Given the description of an element on the screen output the (x, y) to click on. 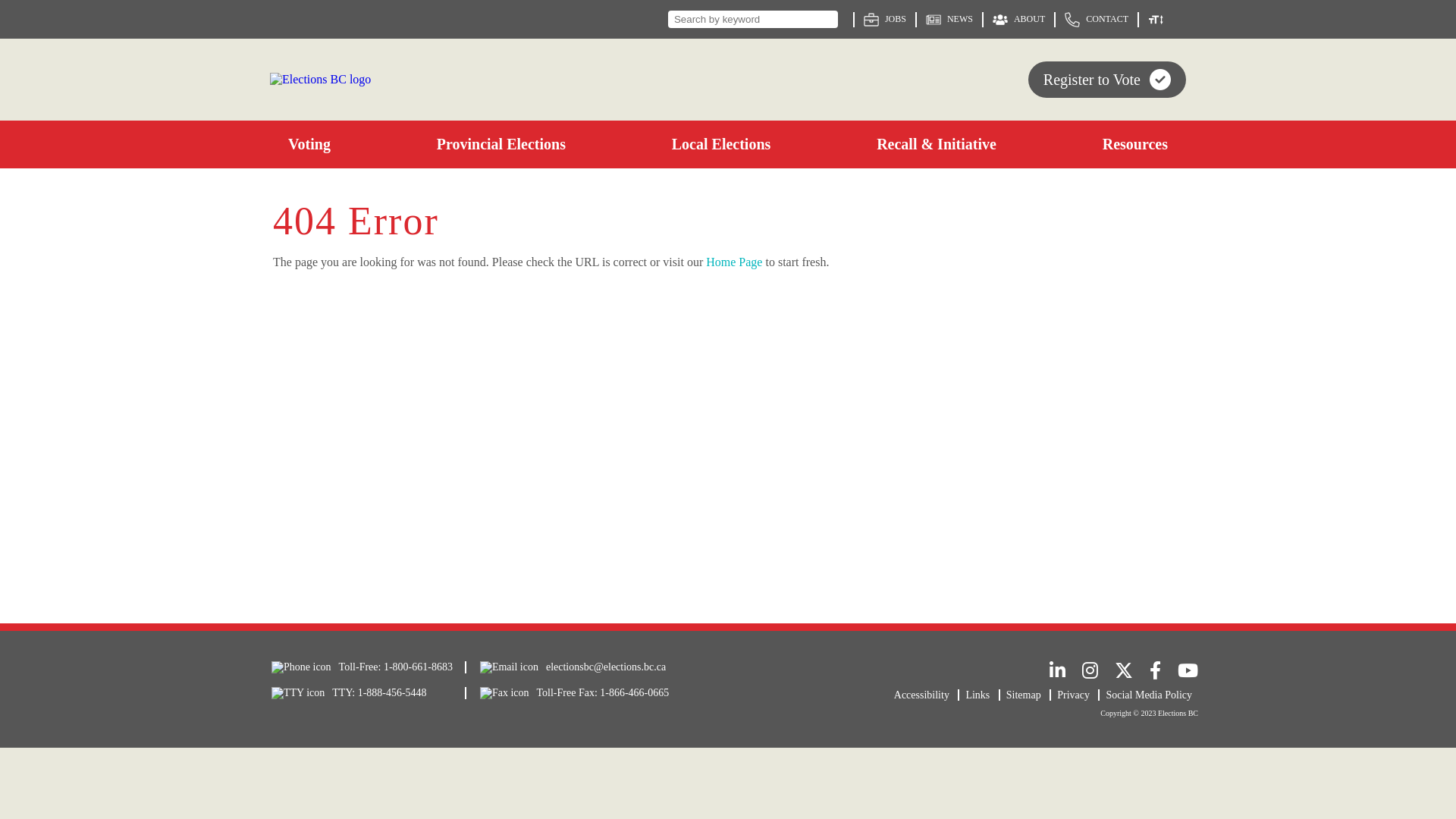
Home Page Element type: text (734, 261)
Accessibility Element type: text (927, 694)
Links Element type: text (982, 694)
ABOUT Element type: text (1018, 19)
NEWS Element type: text (948, 19)
Submit search Element type: hover (823, 19)
Register to Vote Element type: text (1107, 79)
Toll-Free: 1-800-661-8683 Element type: text (354, 667)
Search Element type: hover (752, 19)
TTY: 1-888-456-5448 Element type: text (354, 693)
JOBS Element type: text (884, 19)
electionsbc@elections.bc.ca Element type: text (566, 667)
CONTACT Element type: text (1096, 19)
Toll-Free Fax: 1-866-466-0665 Element type: text (566, 693)
Privacy Element type: text (1078, 694)
Sitemap Element type: text (1028, 694)
Social Media Policy Element type: text (1151, 694)
